Given the description of an element on the screen output the (x, y) to click on. 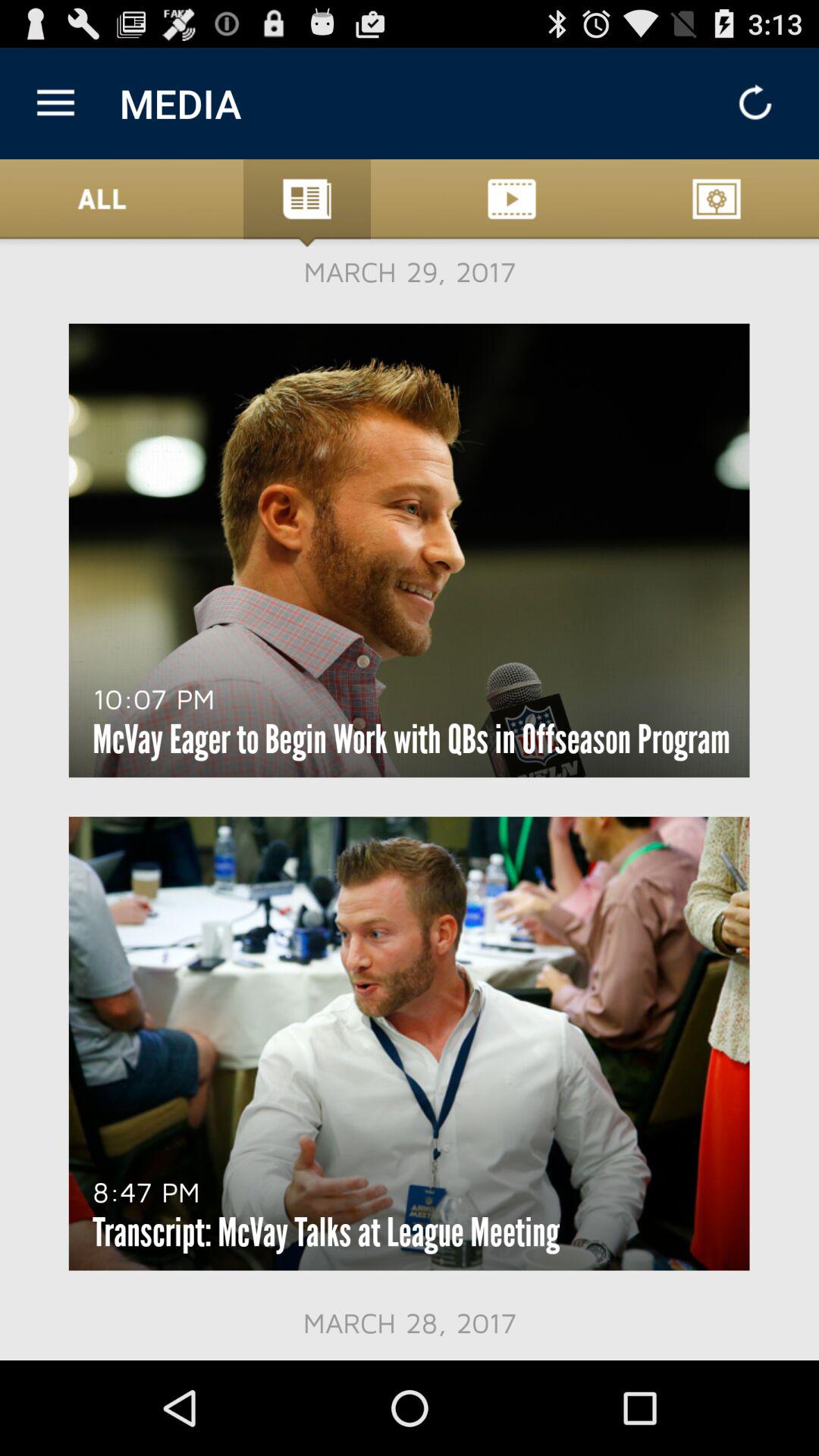
swipe to the 8:47 pm icon (146, 1191)
